Given the description of an element on the screen output the (x, y) to click on. 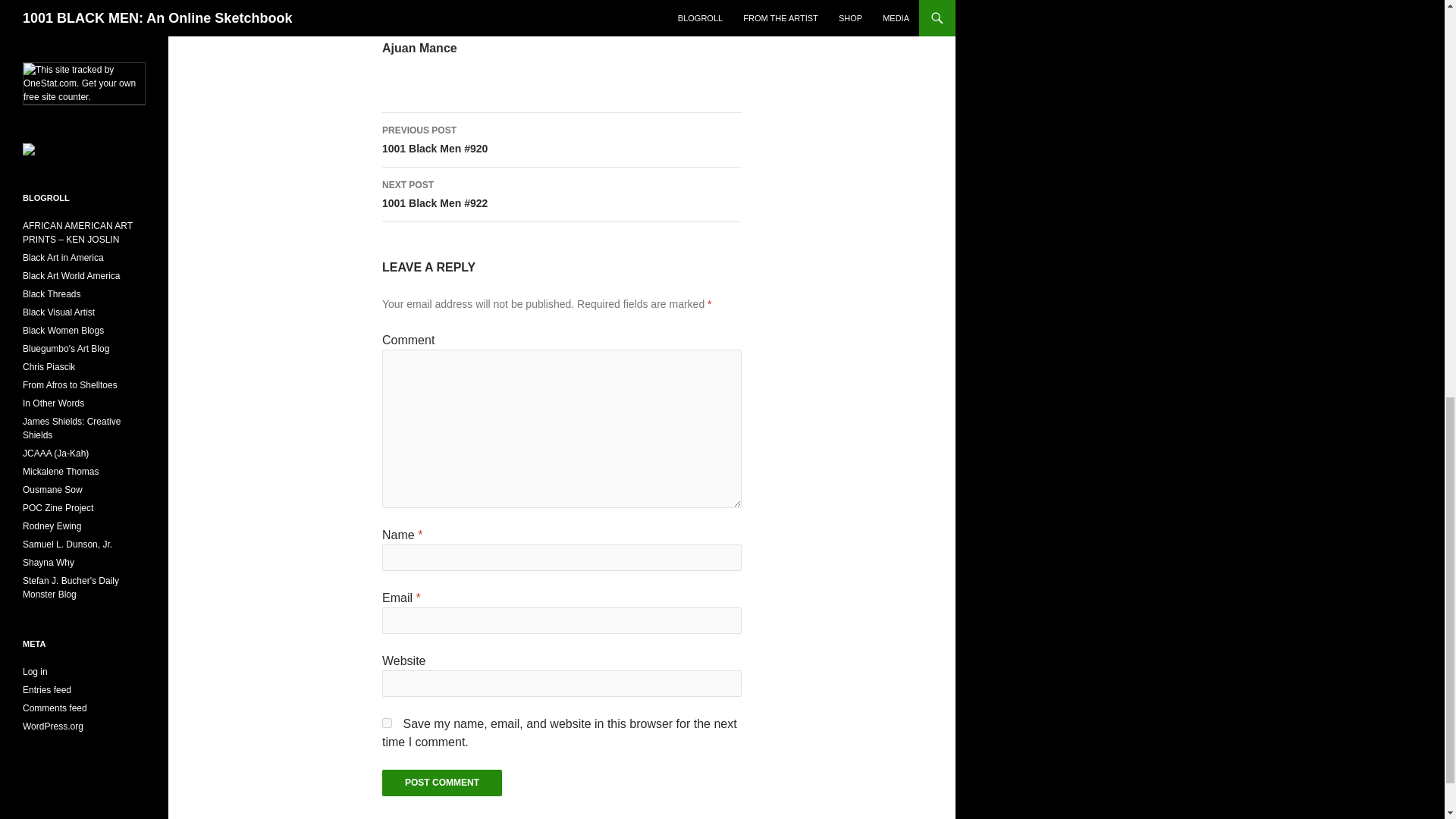
Post Comment (441, 782)
yes (386, 723)
Post Comment (441, 782)
